Given the description of an element on the screen output the (x, y) to click on. 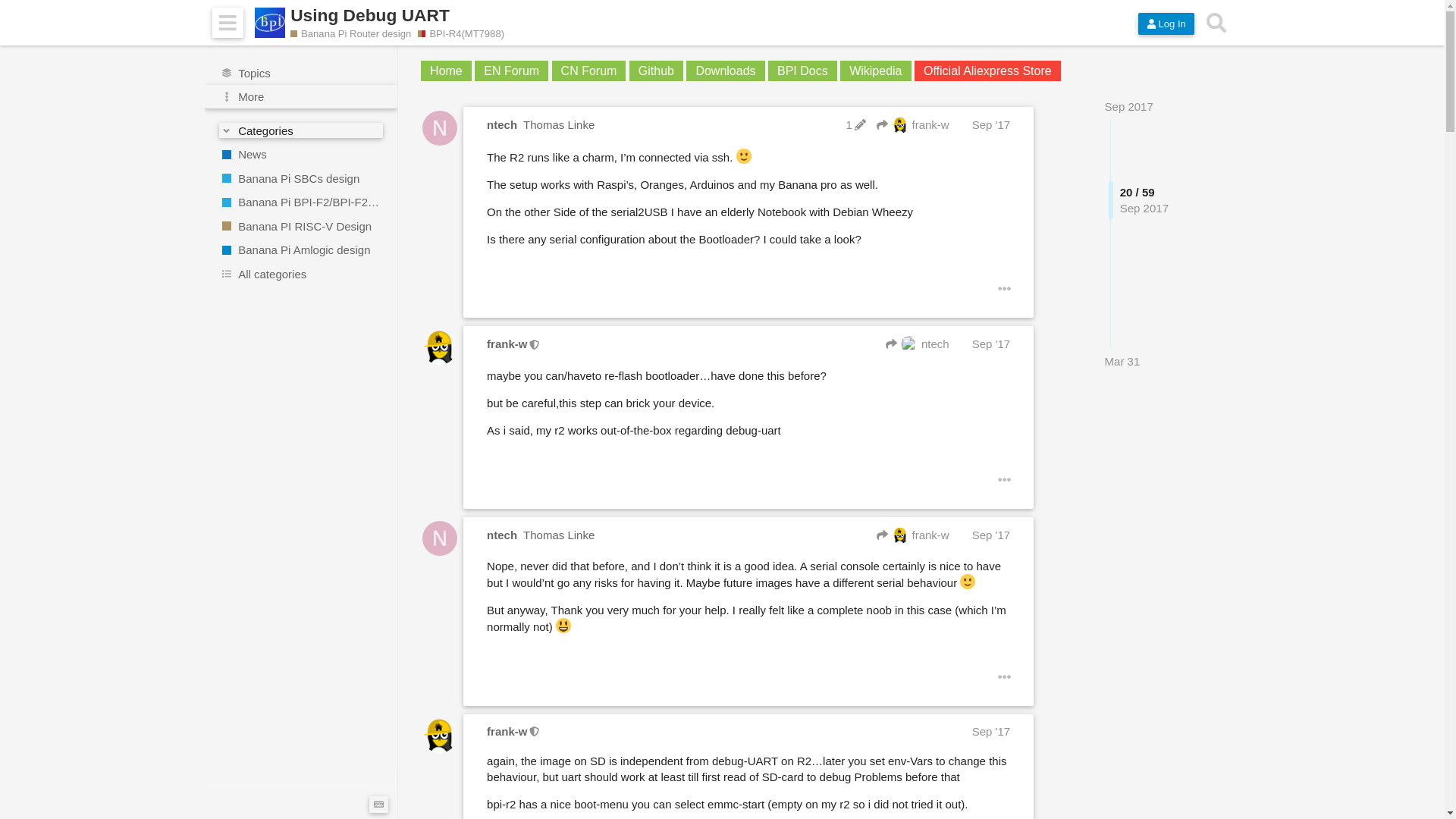
Github (655, 70)
frank-w (506, 343)
ntech (501, 124)
post last edited on Sep 21, 2017 5:42 pm (855, 124)
ntech (917, 343)
Official Aliexpress Store (987, 70)
More (301, 96)
Banana PI RISC-V Design (301, 225)
Banana Pi Open source single board computer design (301, 178)
All topics (301, 72)
Sep '17 (991, 124)
Search (1215, 22)
Downloads (724, 70)
Thomas Linke (558, 124)
Hide sidebar (227, 22)
